Given the description of an element on the screen output the (x, y) to click on. 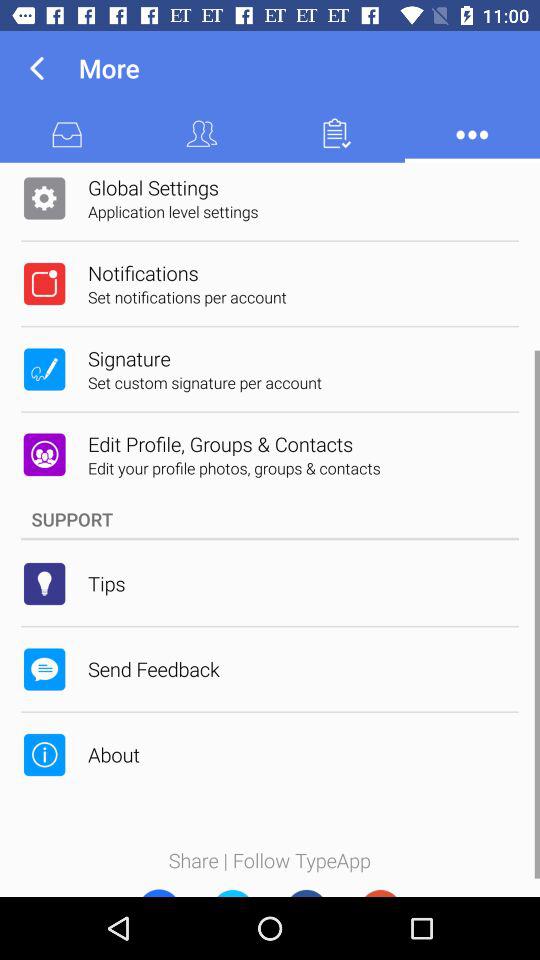
select app above the application level settings app (153, 187)
